Given the description of an element on the screen output the (x, y) to click on. 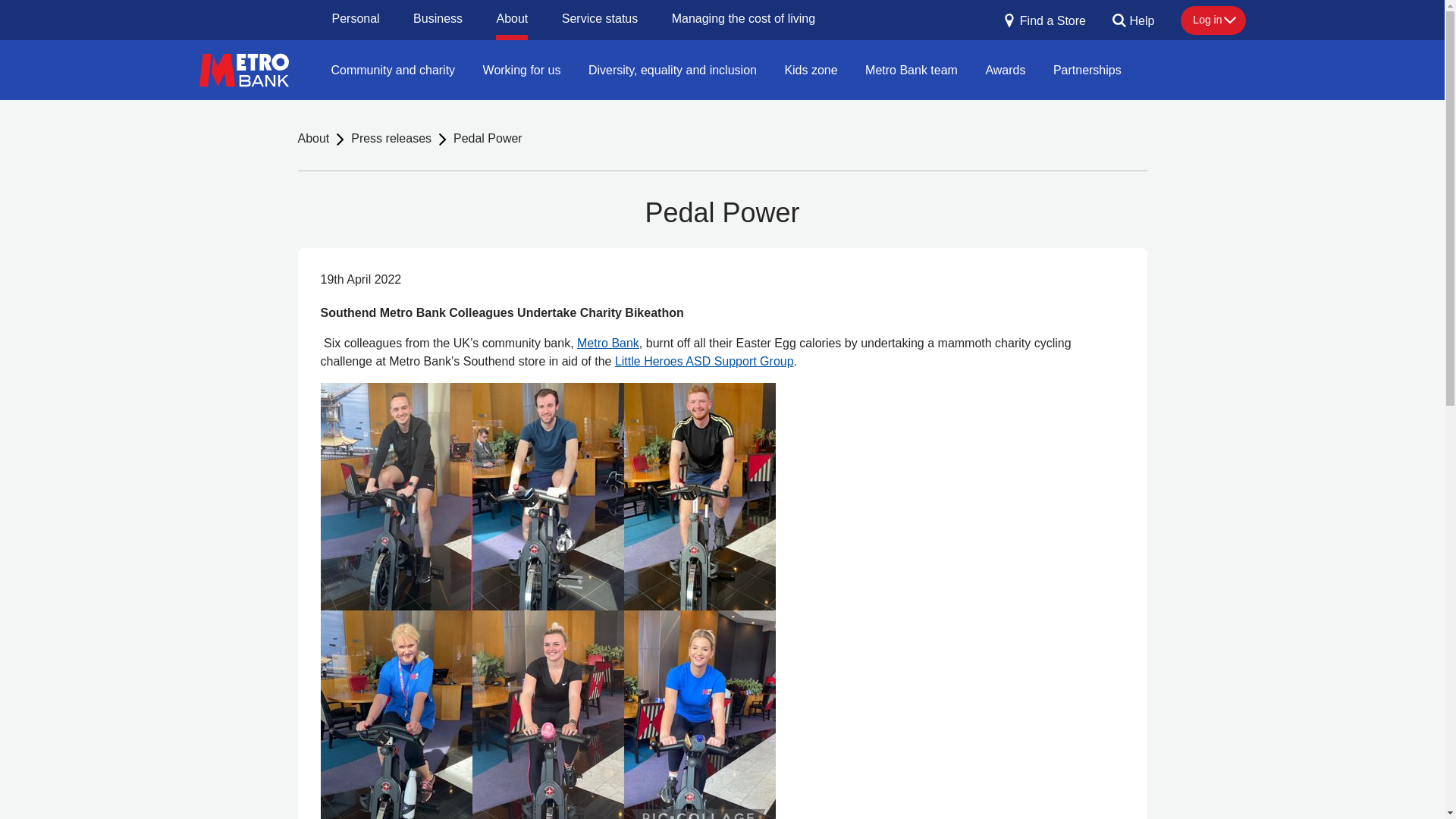
Diversity, equality and inclusion (672, 69)
Find a Store (1044, 26)
Awards (1004, 69)
Working for us (521, 69)
Log in (1212, 20)
Metro Bank (607, 342)
Business (438, 20)
Personal (355, 20)
Partnerships (1087, 69)
Managing the cost of living (743, 20)
